Given the description of an element on the screen output the (x, y) to click on. 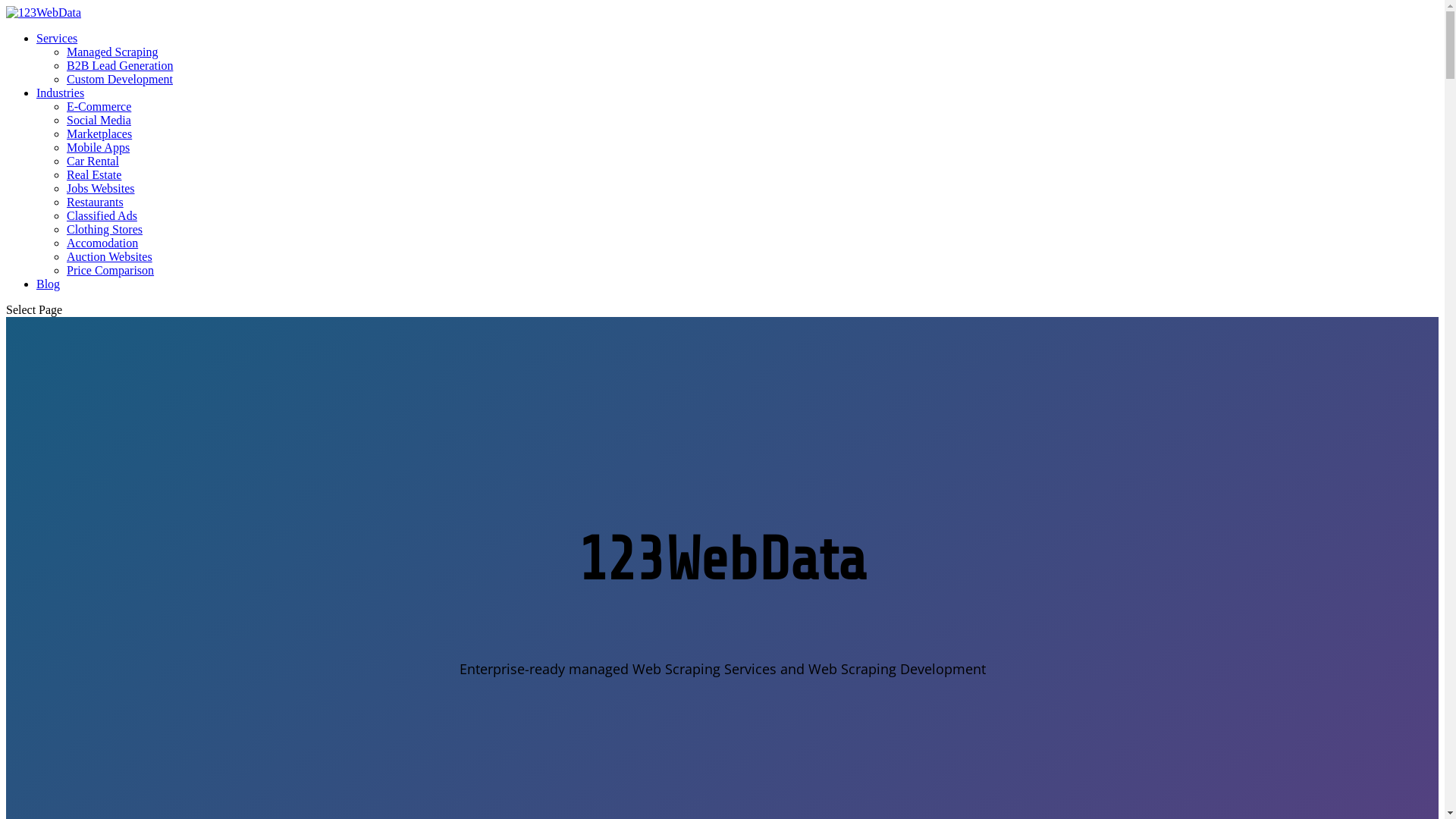
Blog Element type: text (47, 283)
Classified Ads Element type: text (101, 215)
Price Comparison Element type: text (109, 269)
Car Rental Element type: text (92, 160)
Clothing Stores Element type: text (104, 228)
Accomodation Element type: text (102, 242)
Auction Websites Element type: text (109, 256)
Managed Scraping Element type: text (111, 51)
B2B Lead Generation Element type: text (119, 65)
Marketplaces Element type: text (98, 133)
E-Commerce Element type: text (98, 106)
Custom Development Element type: text (119, 78)
Jobs Websites Element type: text (100, 188)
Real Estate Element type: text (93, 174)
Restaurants Element type: text (94, 201)
Social Media Element type: text (98, 119)
Services Element type: text (56, 37)
Industries Element type: text (60, 92)
Mobile Apps Element type: text (97, 147)
